Given the description of an element on the screen output the (x, y) to click on. 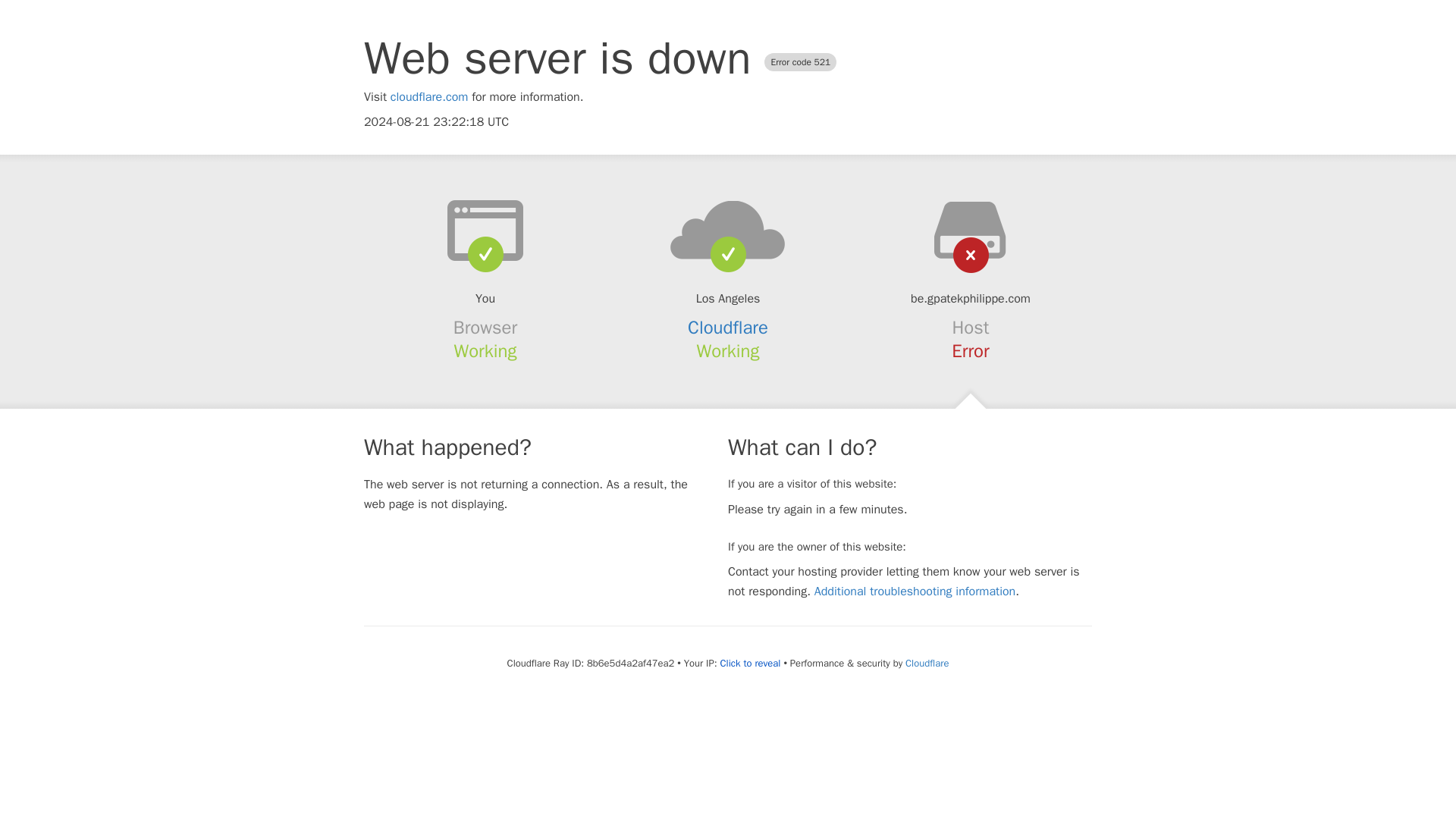
Cloudflare (727, 327)
Click to reveal (750, 663)
Additional troubleshooting information (913, 590)
cloudflare.com (429, 96)
Cloudflare (927, 662)
